Given the description of an element on the screen output the (x, y) to click on. 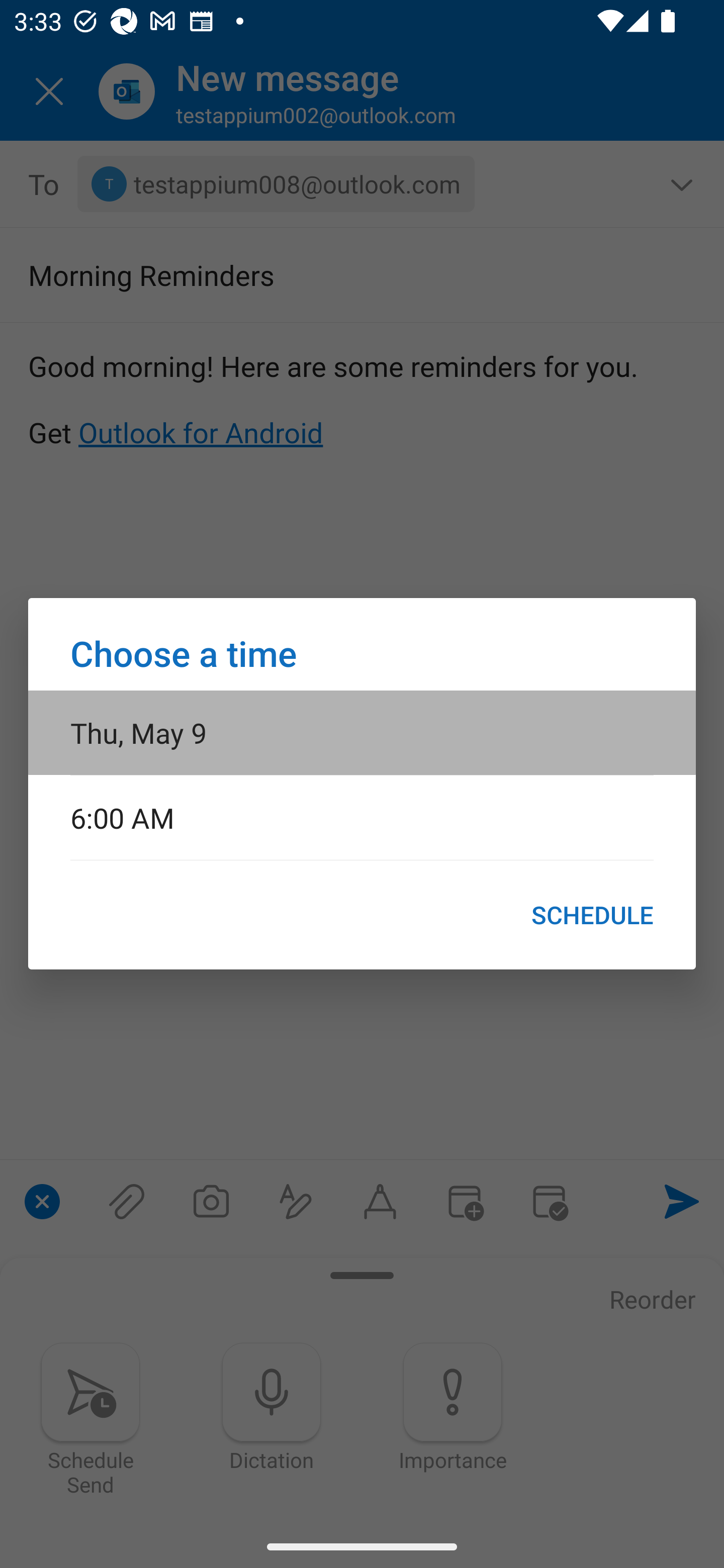
Thu, May 9 Choose date Thu, May 9 (361, 731)
6:00 AM Choose time 6:00 AM (361, 817)
SCHEDULE (592, 914)
